Given the description of an element on the screen output the (x, y) to click on. 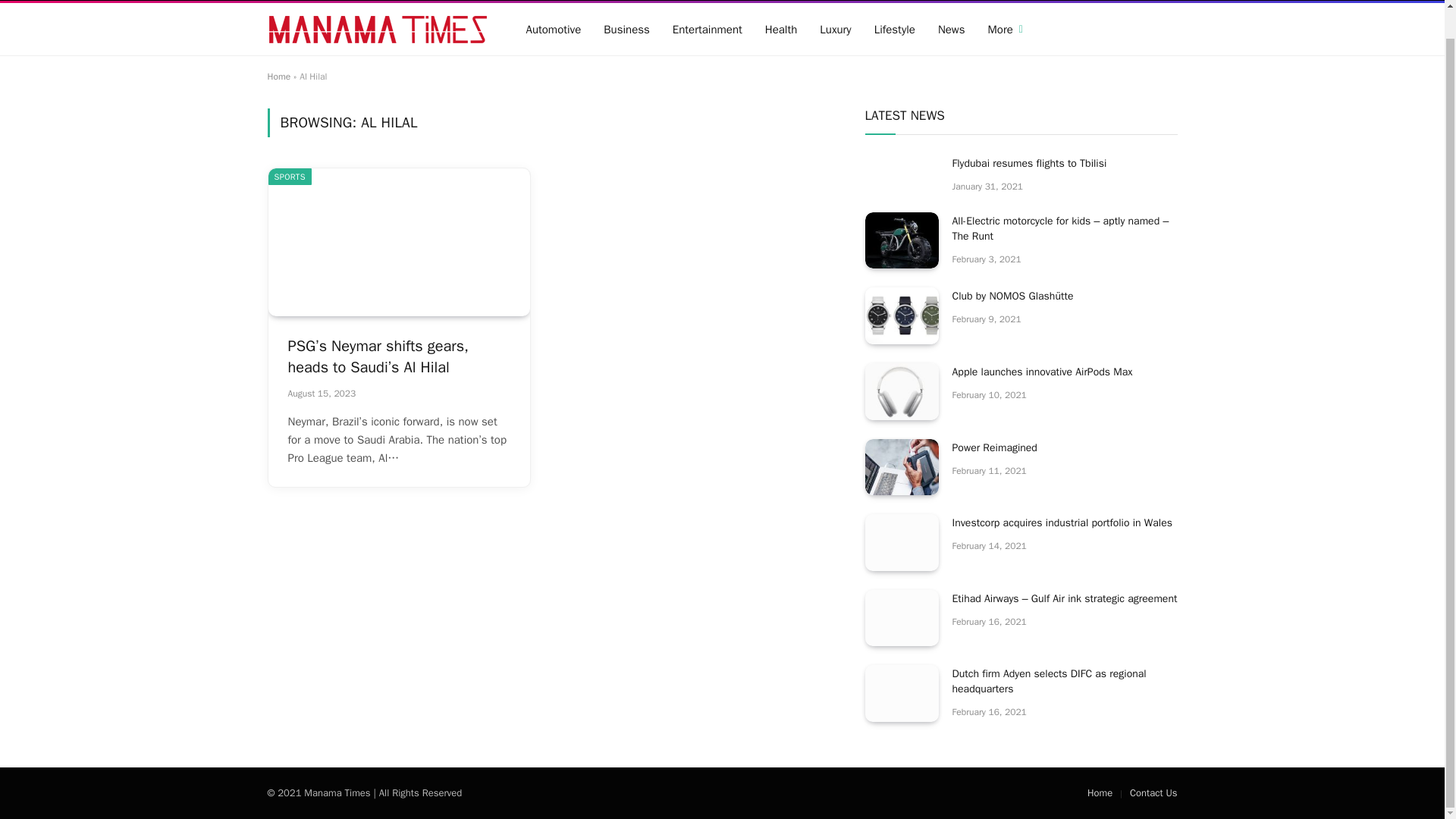
Health (781, 29)
Contact Us (335, 0)
Automotive (552, 29)
Lifestyle (894, 29)
Home (279, 0)
News (951, 29)
Manama Times (376, 28)
Flydubai resumes flights to Tbilisi (1064, 163)
SPORTS (289, 176)
Entertainment (707, 29)
